Given the description of an element on the screen output the (x, y) to click on. 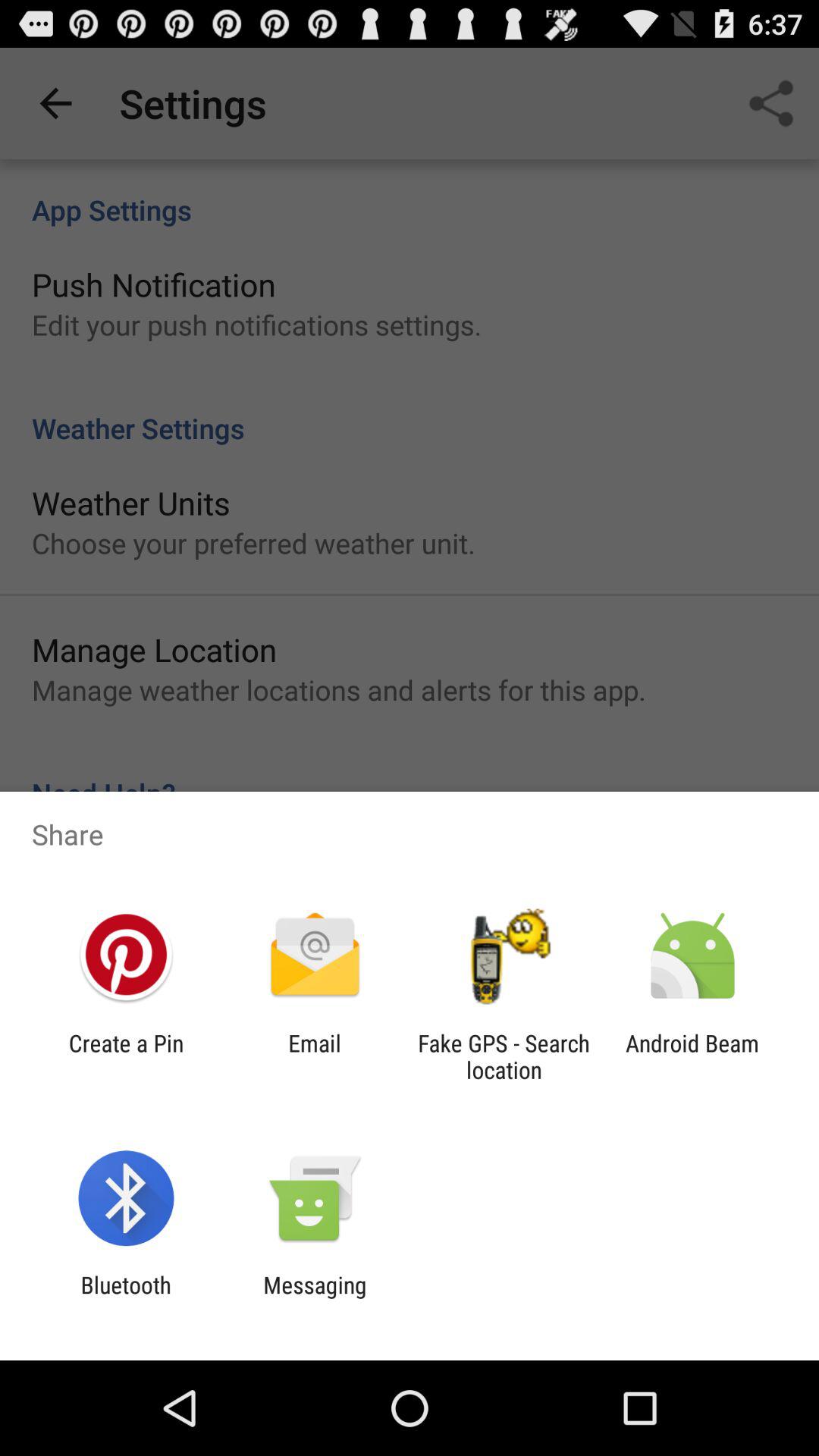
choose the email app (314, 1056)
